Given the description of an element on the screen output the (x, y) to click on. 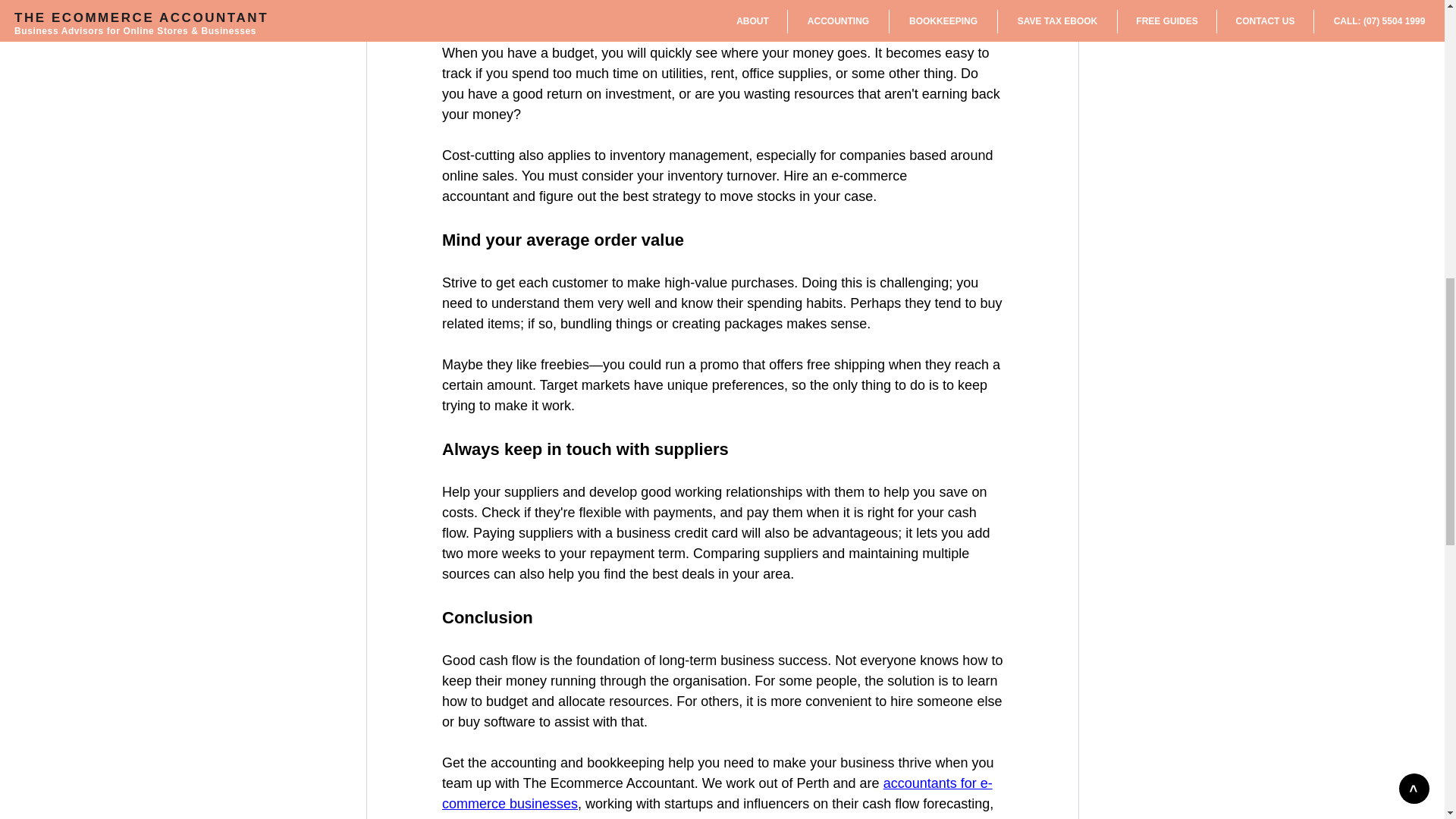
accountants for e-commerce businesses (716, 793)
